Given the description of an element on the screen output the (x, y) to click on. 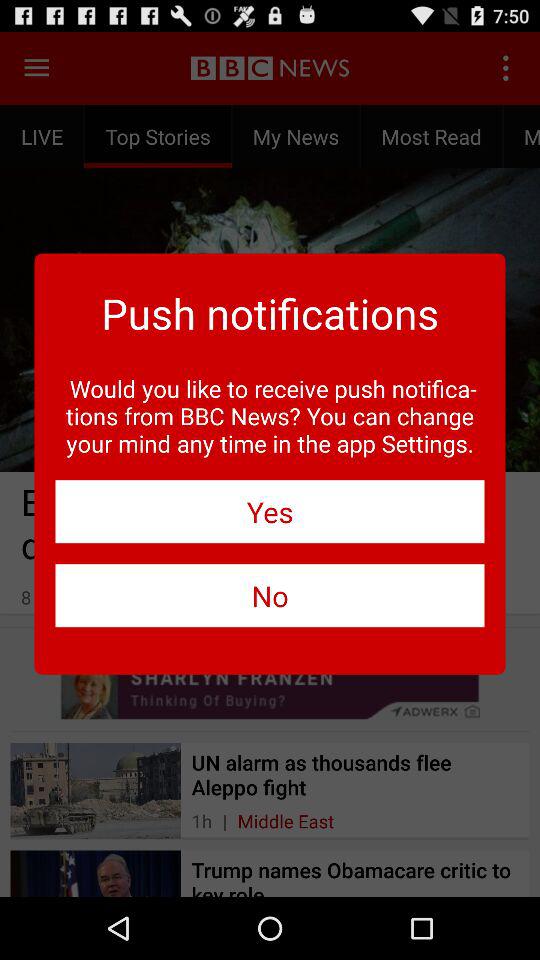
launch the no (269, 595)
